Given the description of an element on the screen output the (x, y) to click on. 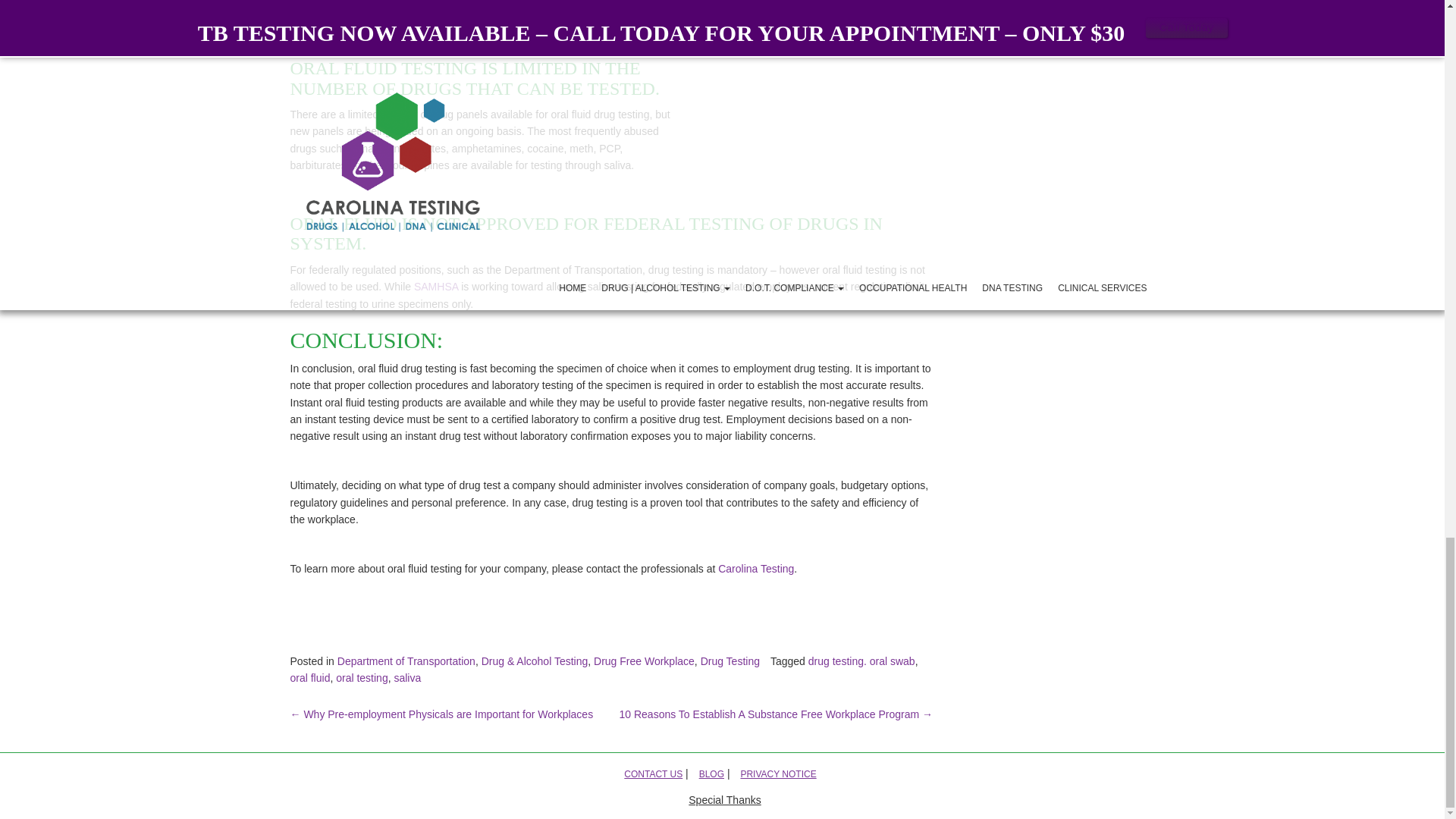
Carolina Testing (755, 568)
drug testing. oral swab (861, 661)
oral testing (361, 677)
CONTACT US (653, 774)
Drug Testing (730, 661)
oral fluid (309, 677)
Department of Transportation (406, 661)
Drug Free Workplace (644, 661)
saliva (406, 677)
SAMHSA (435, 286)
